Given the description of an element on the screen output the (x, y) to click on. 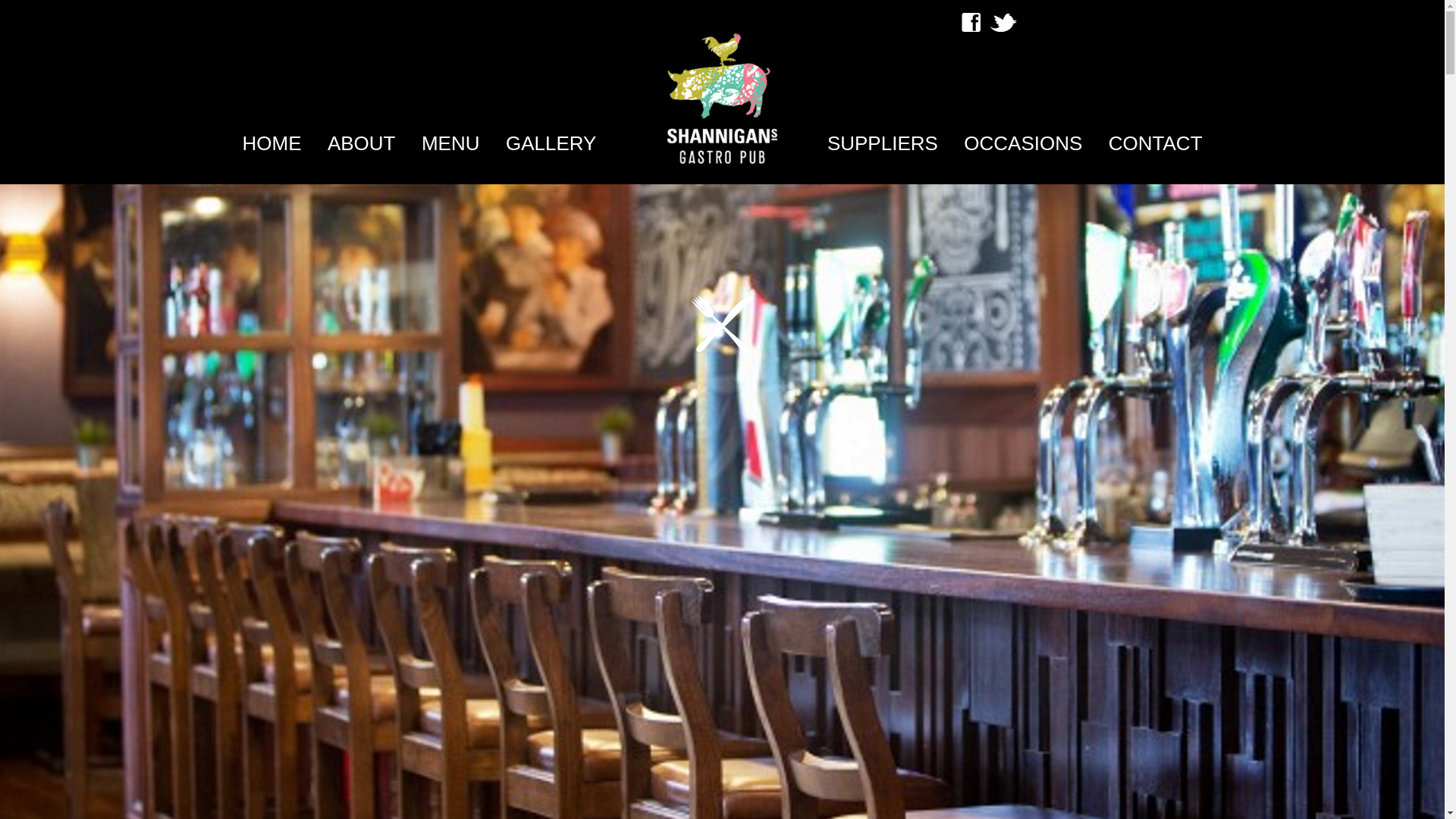
MENU (451, 143)
follow us on Twitter (1003, 21)
GALLERY (550, 143)
HOME (271, 143)
SUPPLIERS (882, 143)
like us on Facebook (969, 21)
CONTACT (1155, 143)
OCCASIONS (1022, 143)
ABOUT (361, 143)
